Given the description of an element on the screen output the (x, y) to click on. 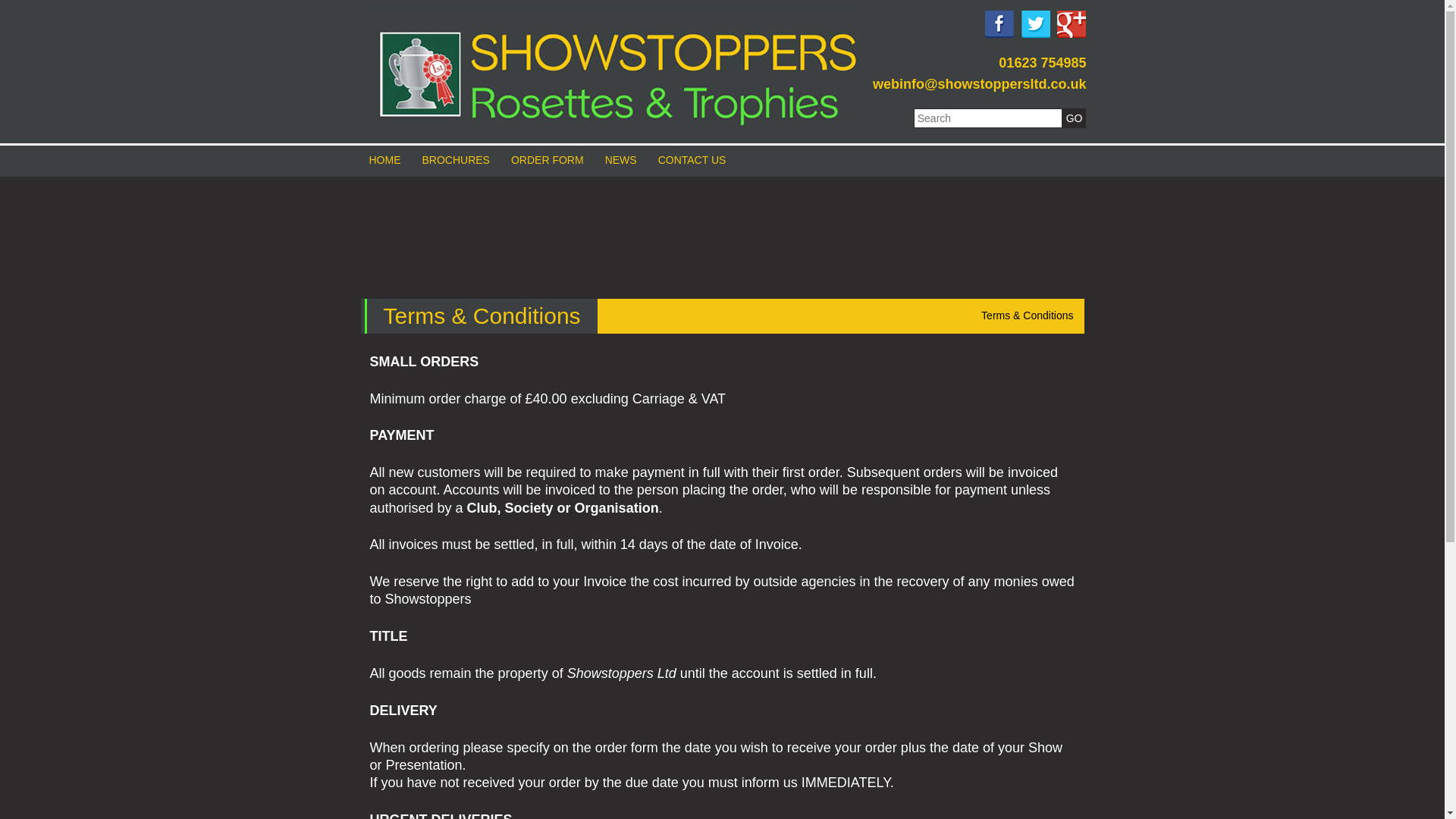
BROCHURES (454, 160)
NEWS (620, 160)
ORDER FORM (547, 160)
Facebook (999, 23)
GO (1074, 117)
CONTACT US (691, 160)
GO (1074, 117)
HOME (384, 160)
Google Plus (1071, 23)
Twitter (1035, 23)
